Given the description of an element on the screen output the (x, y) to click on. 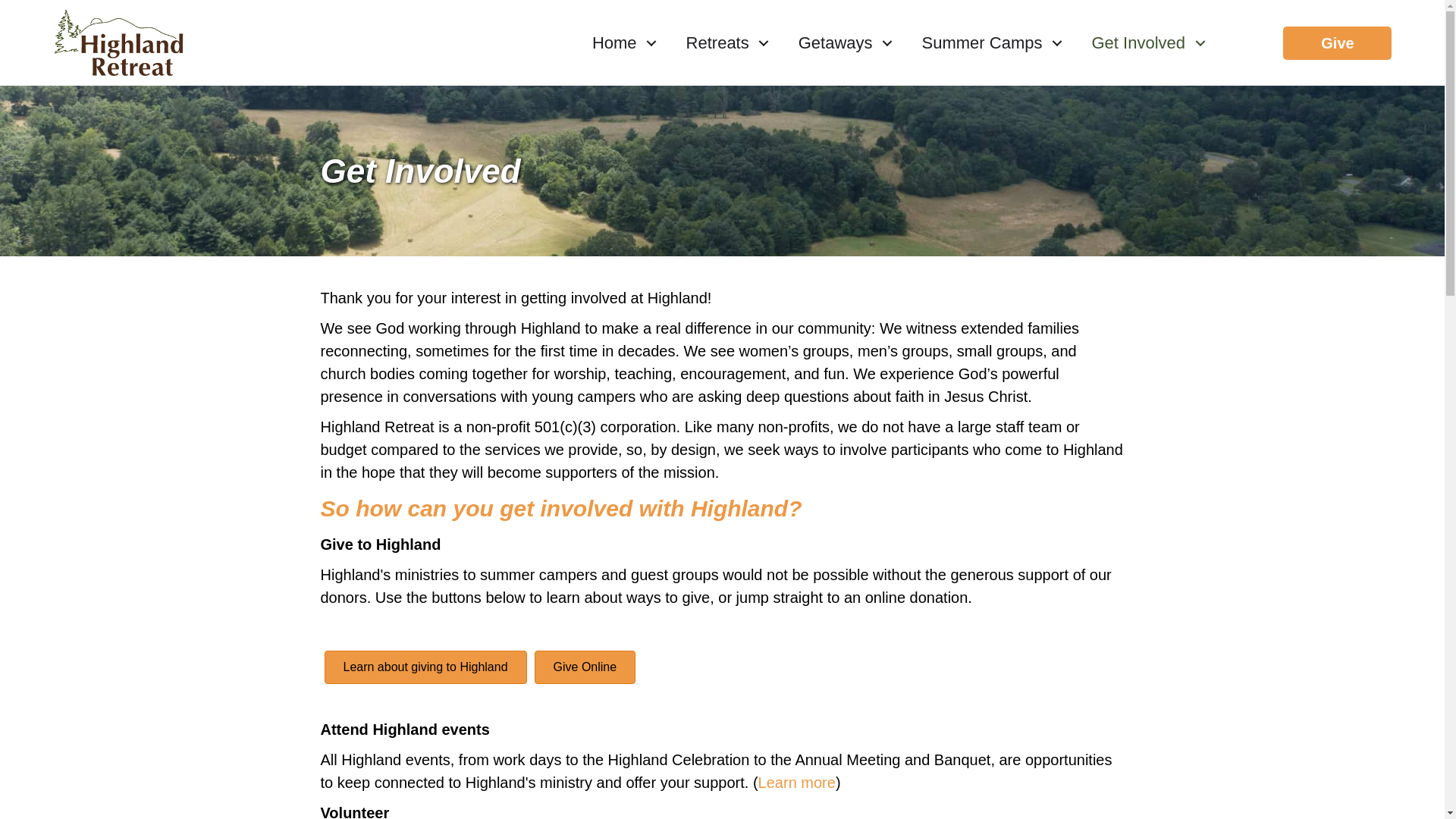
Get Involved (1142, 42)
Summer Camps (986, 42)
Give Online (585, 666)
Getaways (840, 42)
Learn about giving to Highland (425, 666)
Retreats (722, 42)
Learn more (796, 782)
Give (1337, 42)
Home (619, 42)
